Given the description of an element on the screen output the (x, y) to click on. 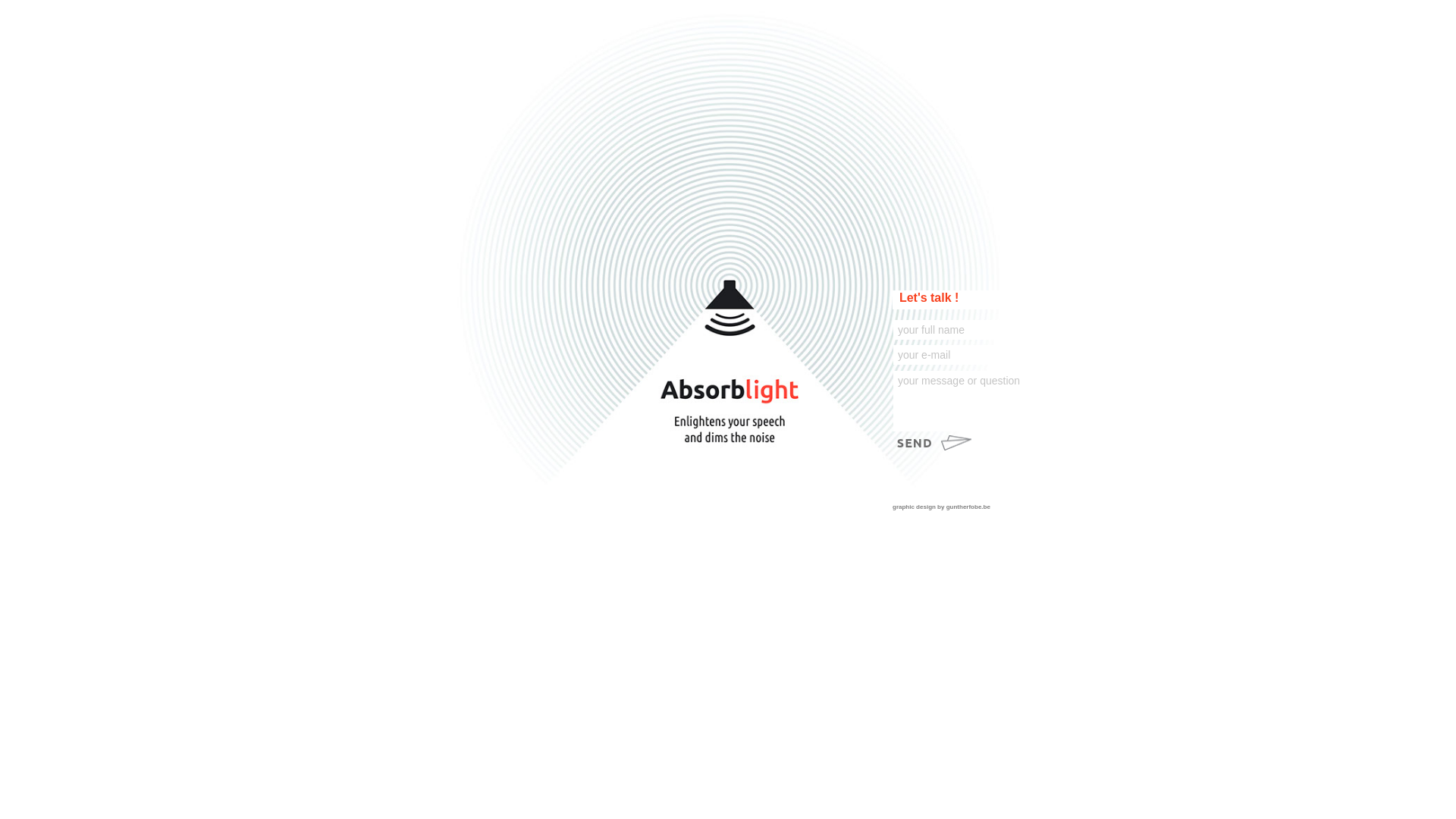
graphic design by guntherfobe.be Element type: text (963, 507)
